Given the description of an element on the screen output the (x, y) to click on. 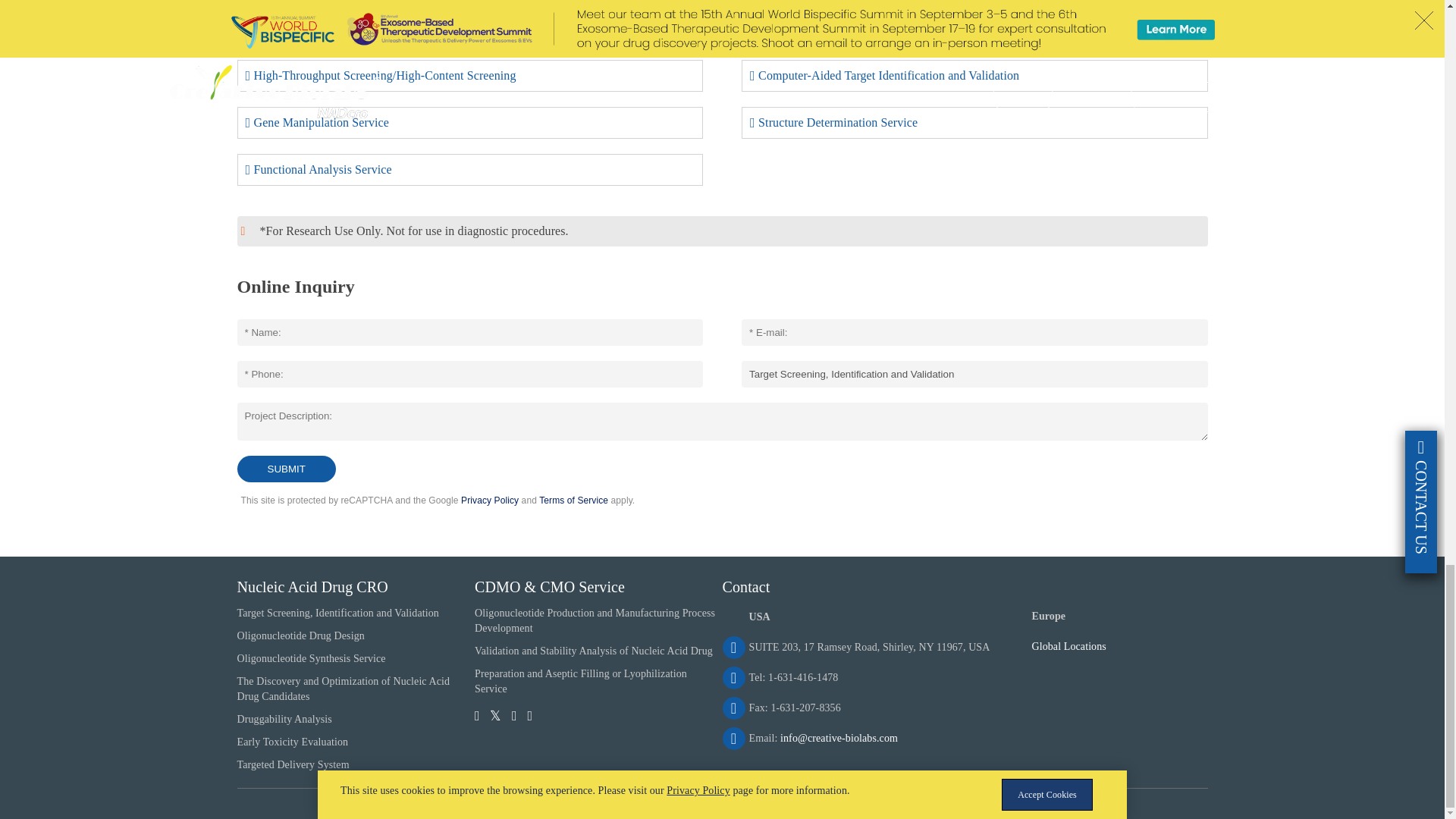
Target Screening, Identification and Validation (974, 374)
